Given the description of an element on the screen output the (x, y) to click on. 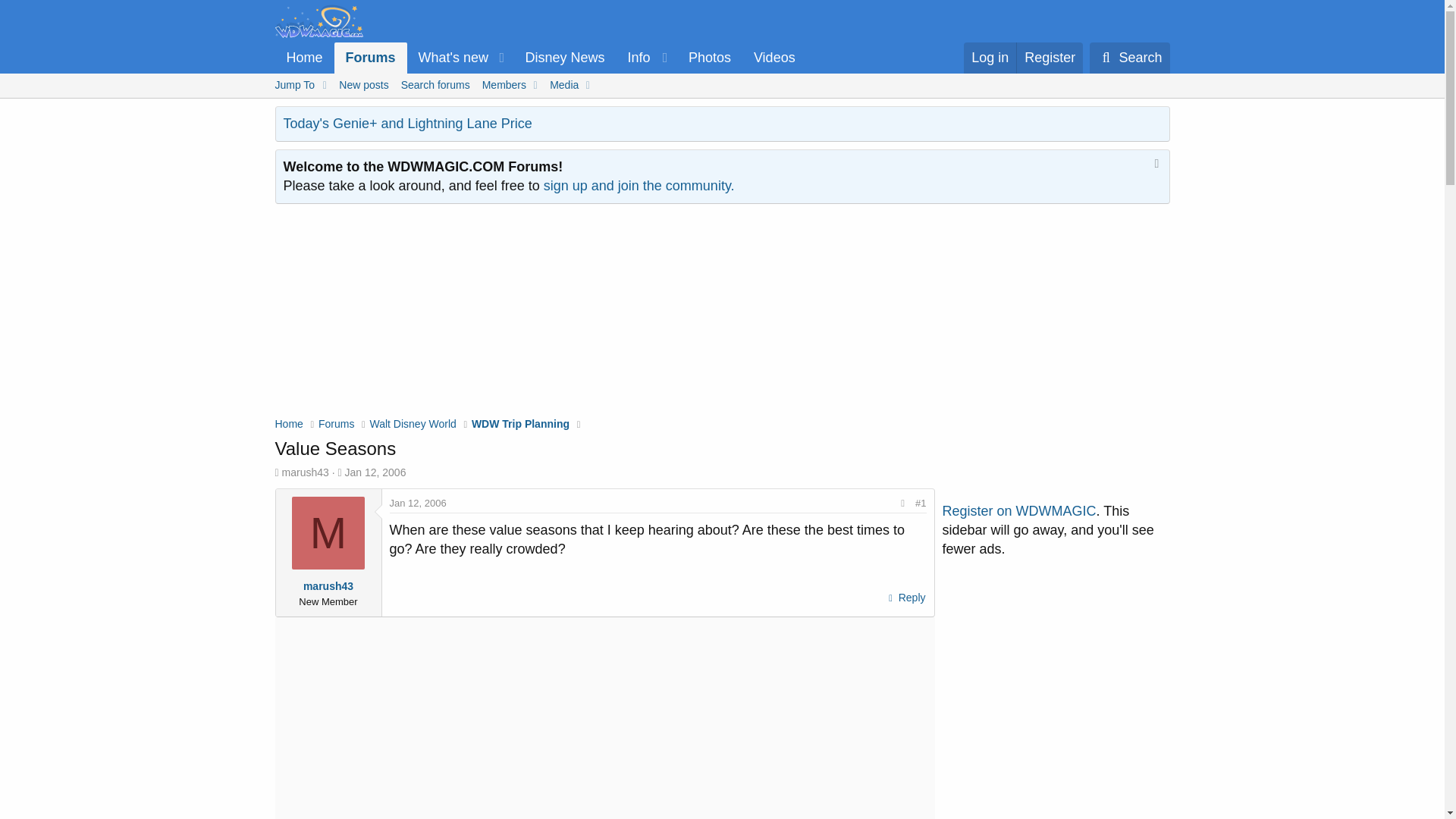
Disney News (564, 57)
Jan 12, 2006 at 8:02 PM (374, 472)
Home (539, 57)
Jan 12, 2006 at 8:02 PM (304, 57)
Info (418, 502)
Reply, quoting this message (646, 57)
What's new (905, 598)
Search (720, 85)
Forums (448, 57)
